Given the description of an element on the screen output the (x, y) to click on. 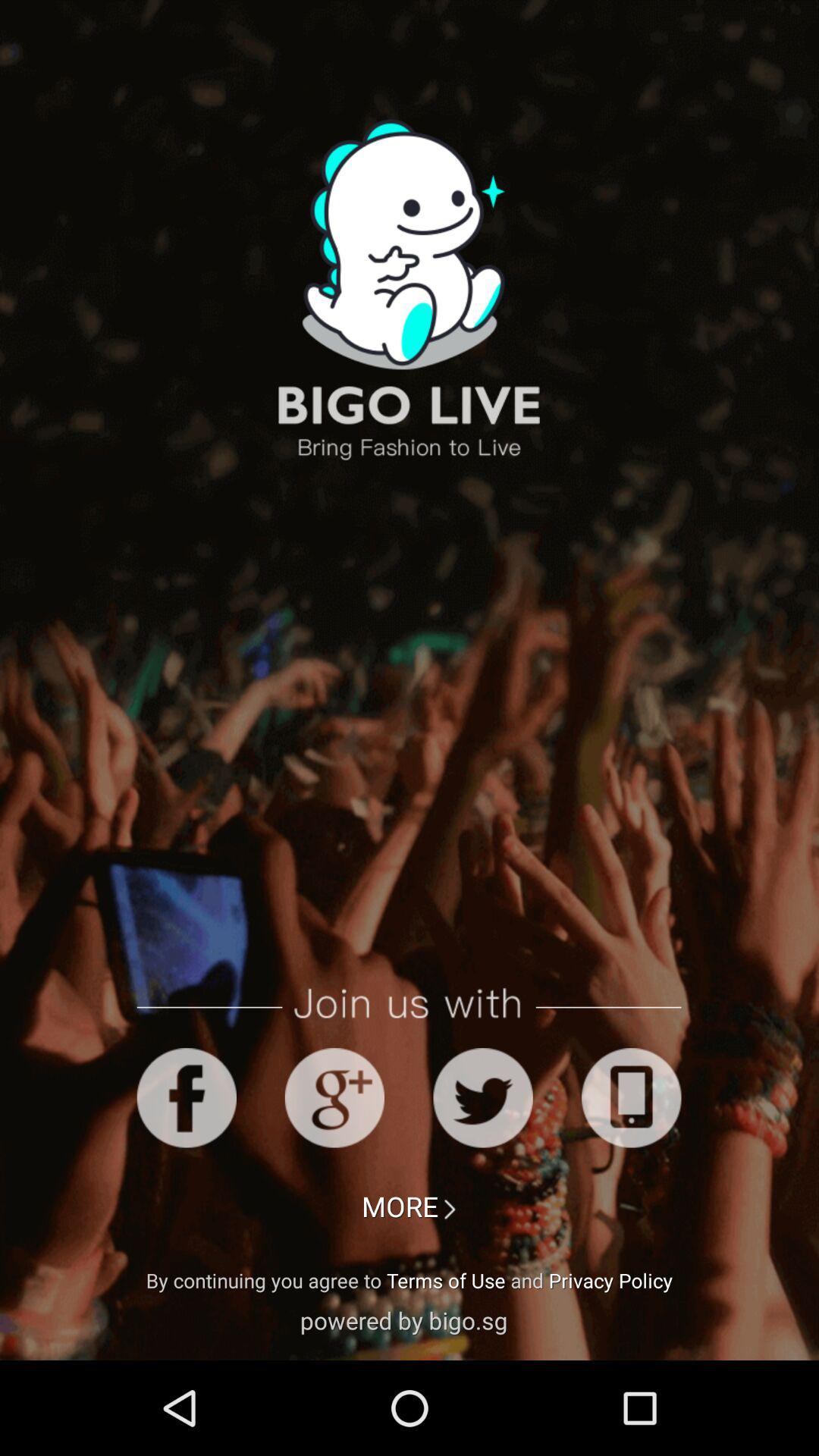
tweeter icon (482, 1097)
